Given the description of an element on the screen output the (x, y) to click on. 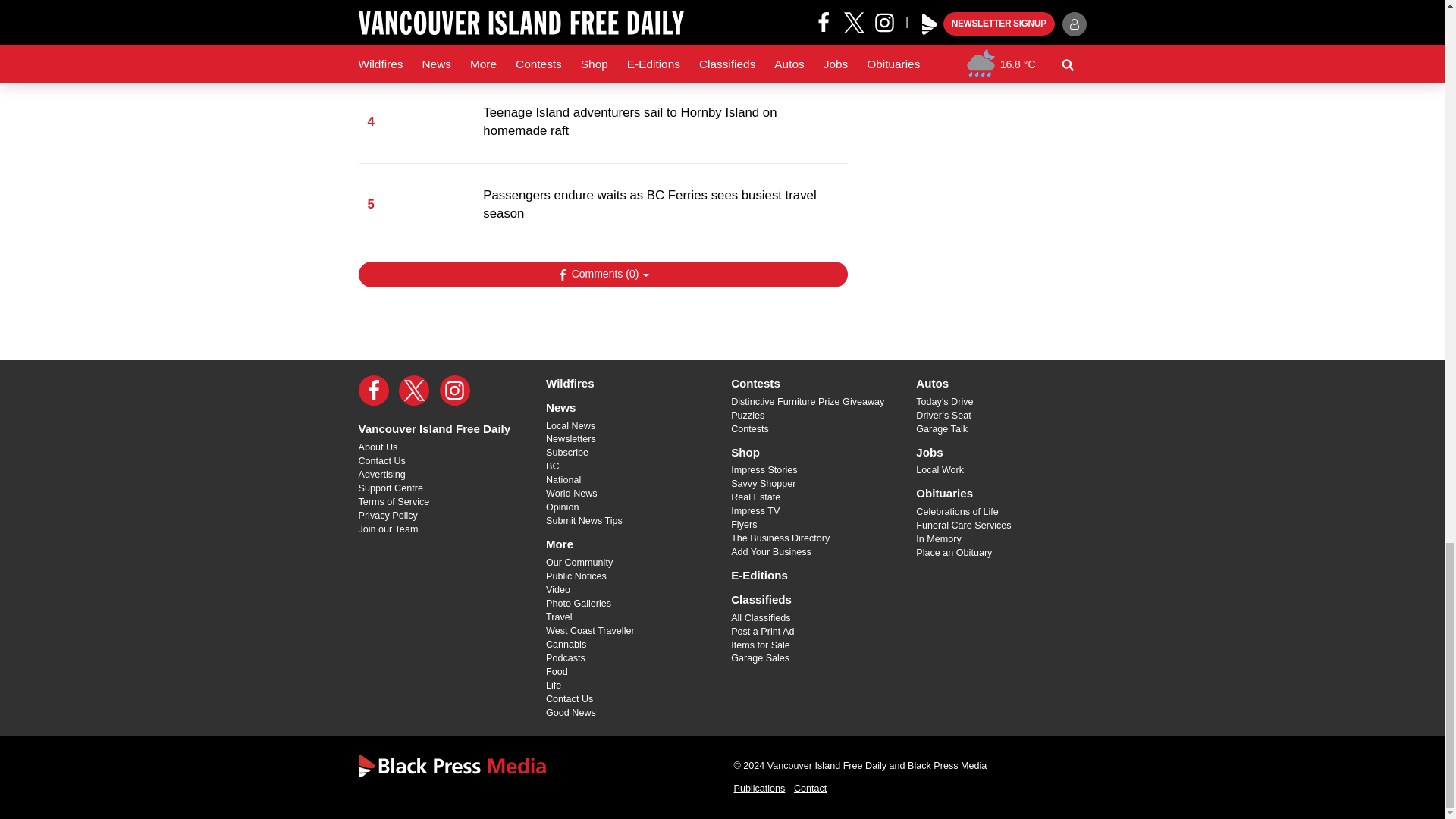
Facebook (373, 390)
Show Comments (602, 274)
Instagram (454, 390)
X (413, 390)
